Given the description of an element on the screen output the (x, y) to click on. 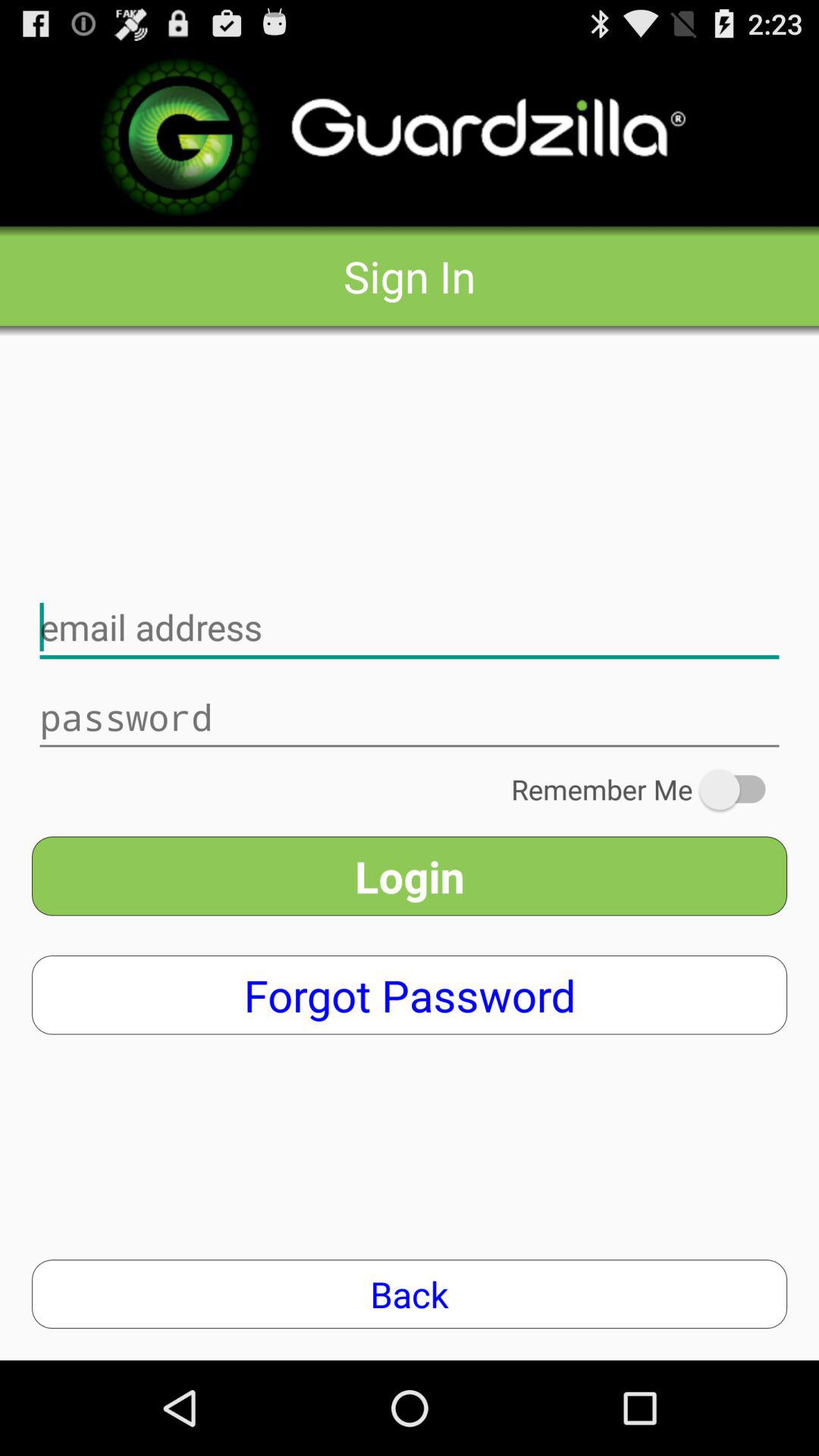
select the remember me on the right (649, 789)
